Given the description of an element on the screen output the (x, y) to click on. 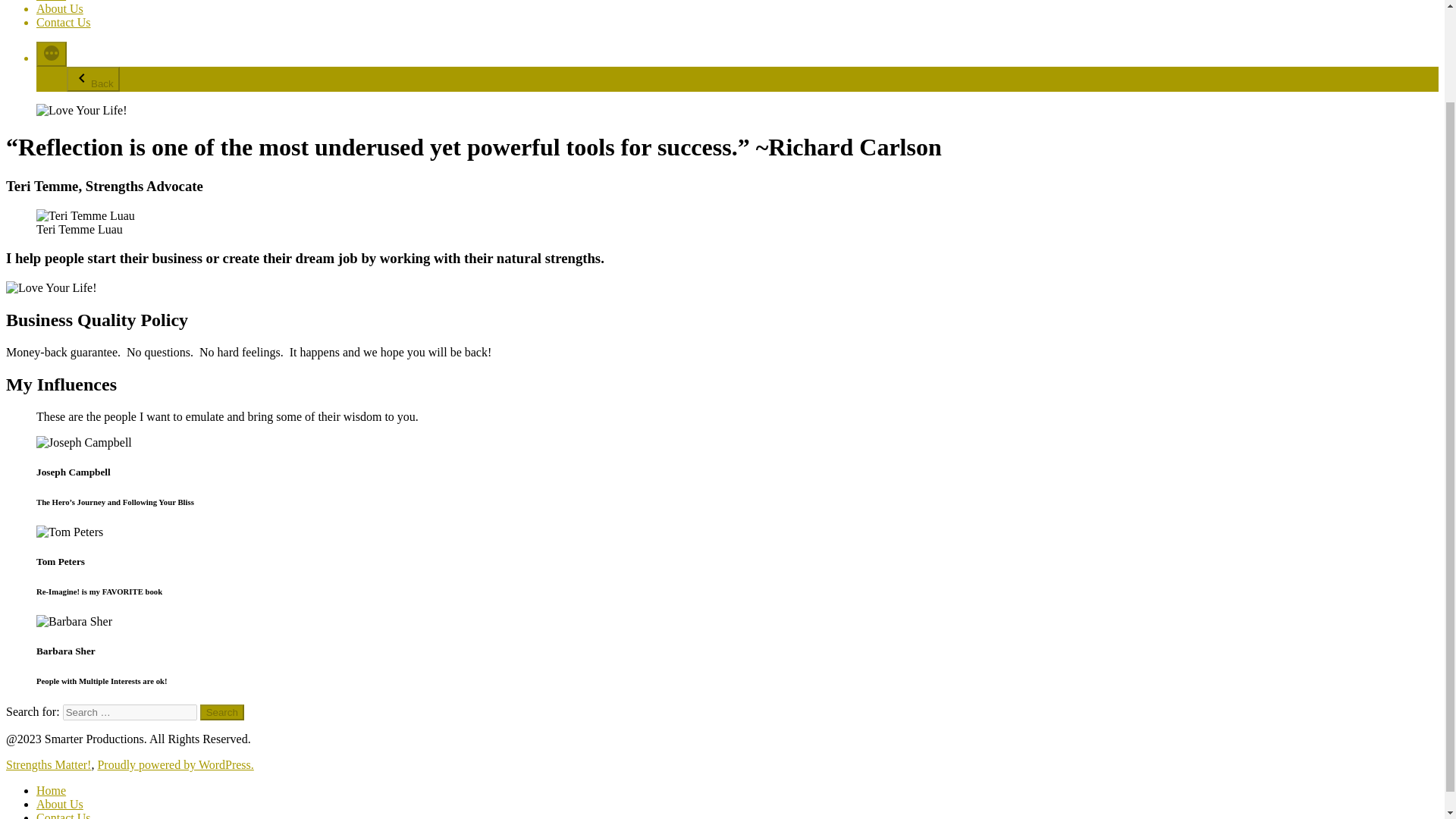
Contact Us (63, 21)
Strengths Matter! (47, 764)
About Us (59, 803)
Search (222, 712)
Search (222, 712)
Back (92, 78)
Proudly powered by WordPress. (175, 764)
About Us (59, 8)
Home (50, 789)
Home (50, 0)
Search (222, 712)
